Given the description of an element on the screen output the (x, y) to click on. 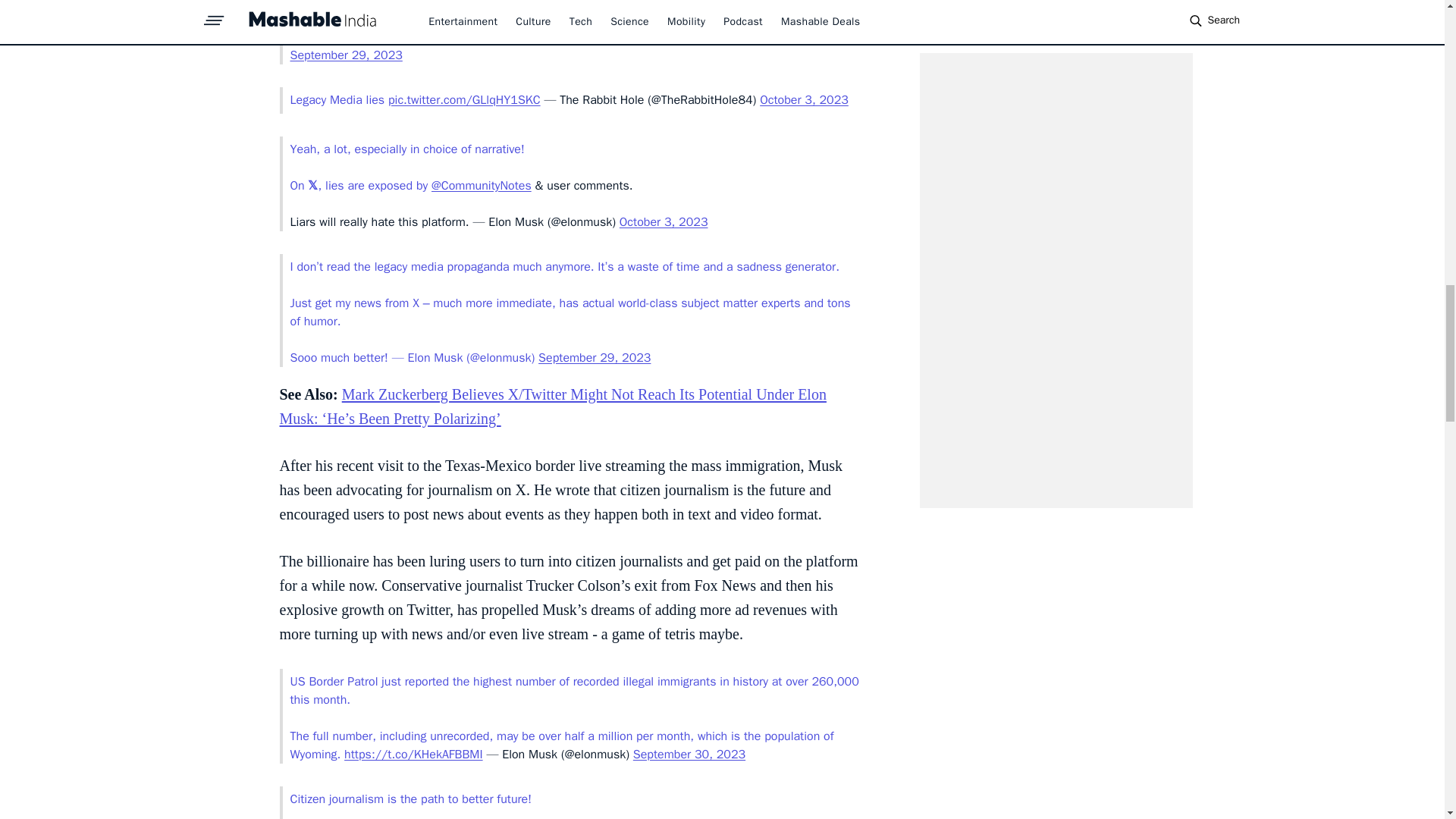
Legacy Media lies (338, 99)
October 3, 2023 (804, 99)
September 29, 2023 (345, 55)
